Given the description of an element on the screen output the (x, y) to click on. 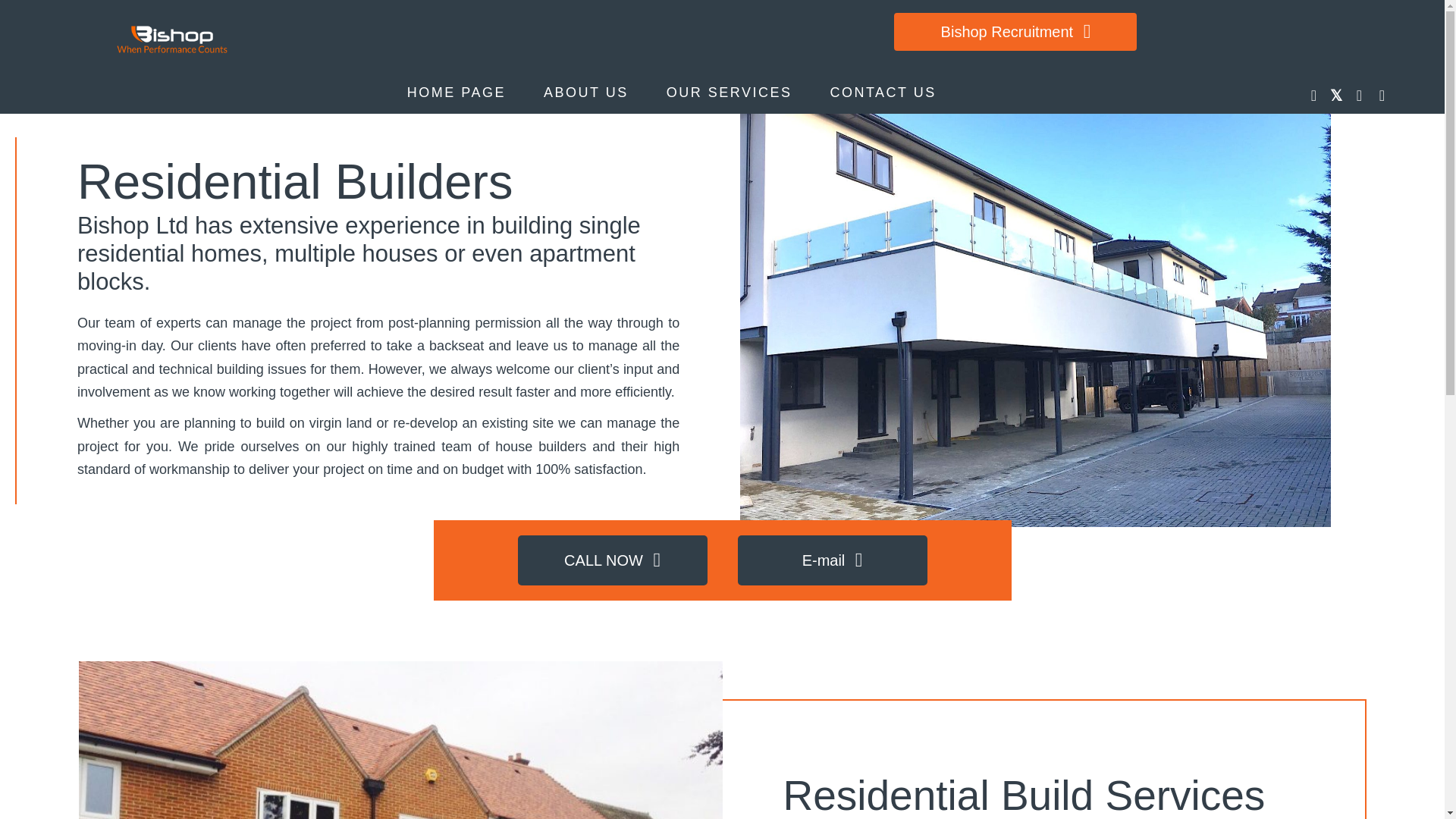
Email (1382, 95)
CONTACT US (882, 92)
OUR SERVICES (729, 92)
LinkedIn (1358, 95)
ABOUT US (585, 92)
Facebook (1313, 95)
Bishop-Logo-new-scaled (172, 39)
HOME PAGE (456, 92)
Little Lawns Back (400, 739)
